Given the description of an element on the screen output the (x, y) to click on. 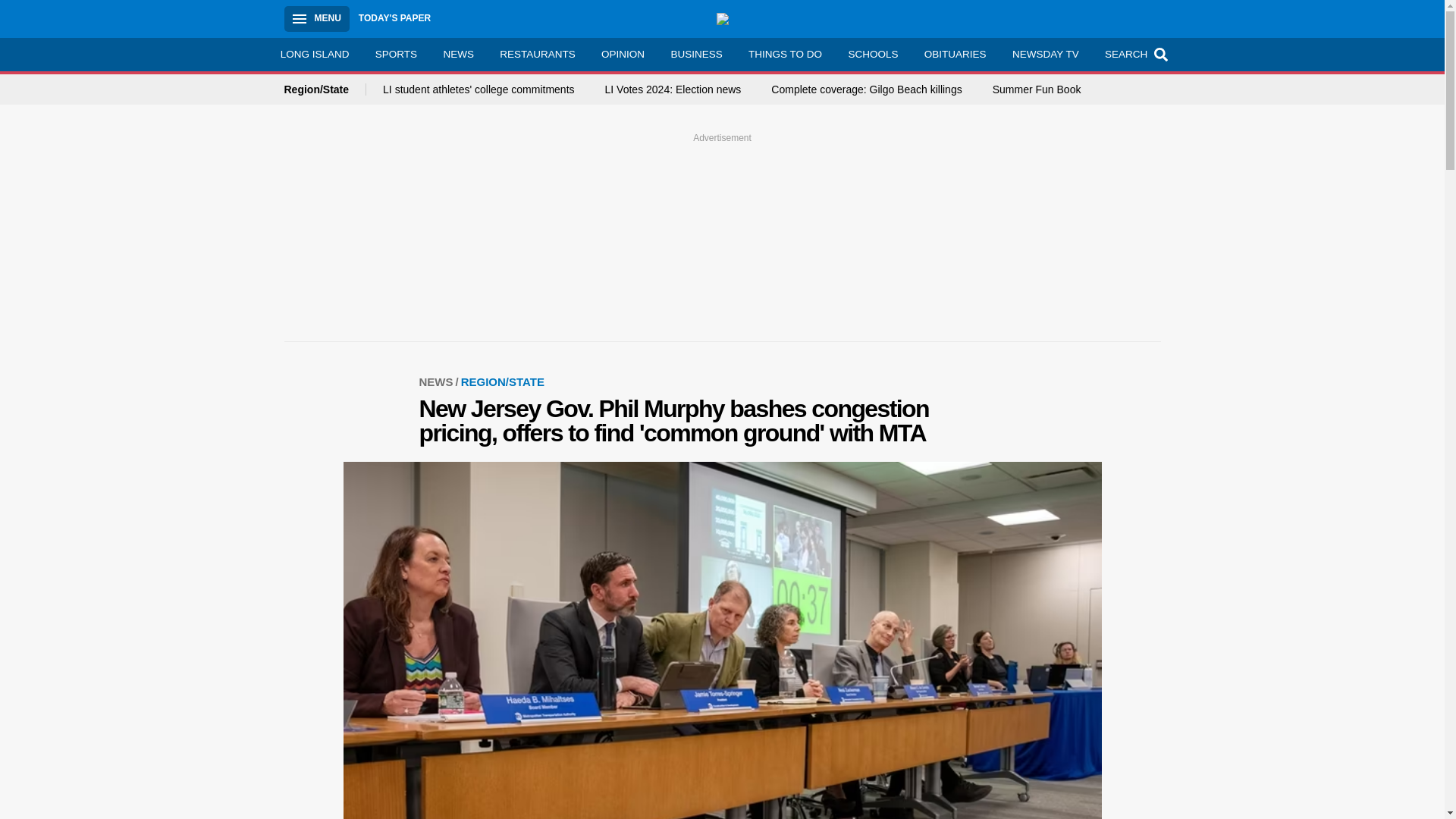
OPINION (623, 54)
Summer Fun Book (1036, 89)
LONG ISLAND (313, 54)
Complete coverage: Gilgo Beach killings (865, 89)
THINGS TO DO (784, 54)
SCHOOLS (872, 54)
BUSINESS (696, 54)
NEWS (439, 381)
LI student athletes' college commitments (477, 89)
SEARCH (1134, 54)
